Given the description of an element on the screen output the (x, y) to click on. 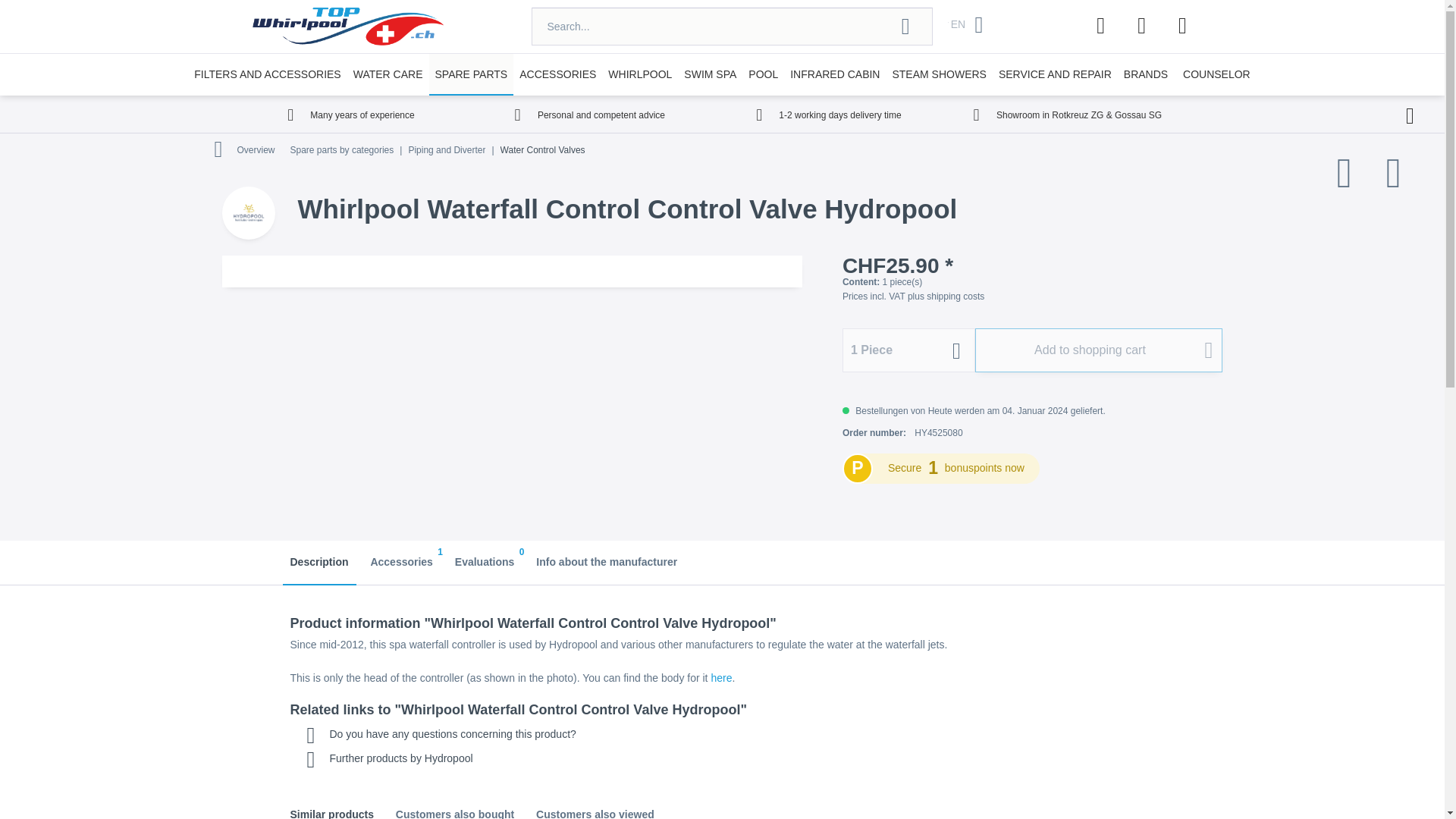
WATER CARE (388, 74)
SWIM SPA (710, 74)
Customers also viewed (595, 806)
INFRARED CABIN (834, 74)
FILTERS AND ACCESSORIES (266, 74)
SWIM SPA (710, 74)
My account (1141, 25)
SWIM SPA (710, 74)
Customers also bought (454, 806)
ACCESSORIES (557, 74)
